Given the description of an element on the screen output the (x, y) to click on. 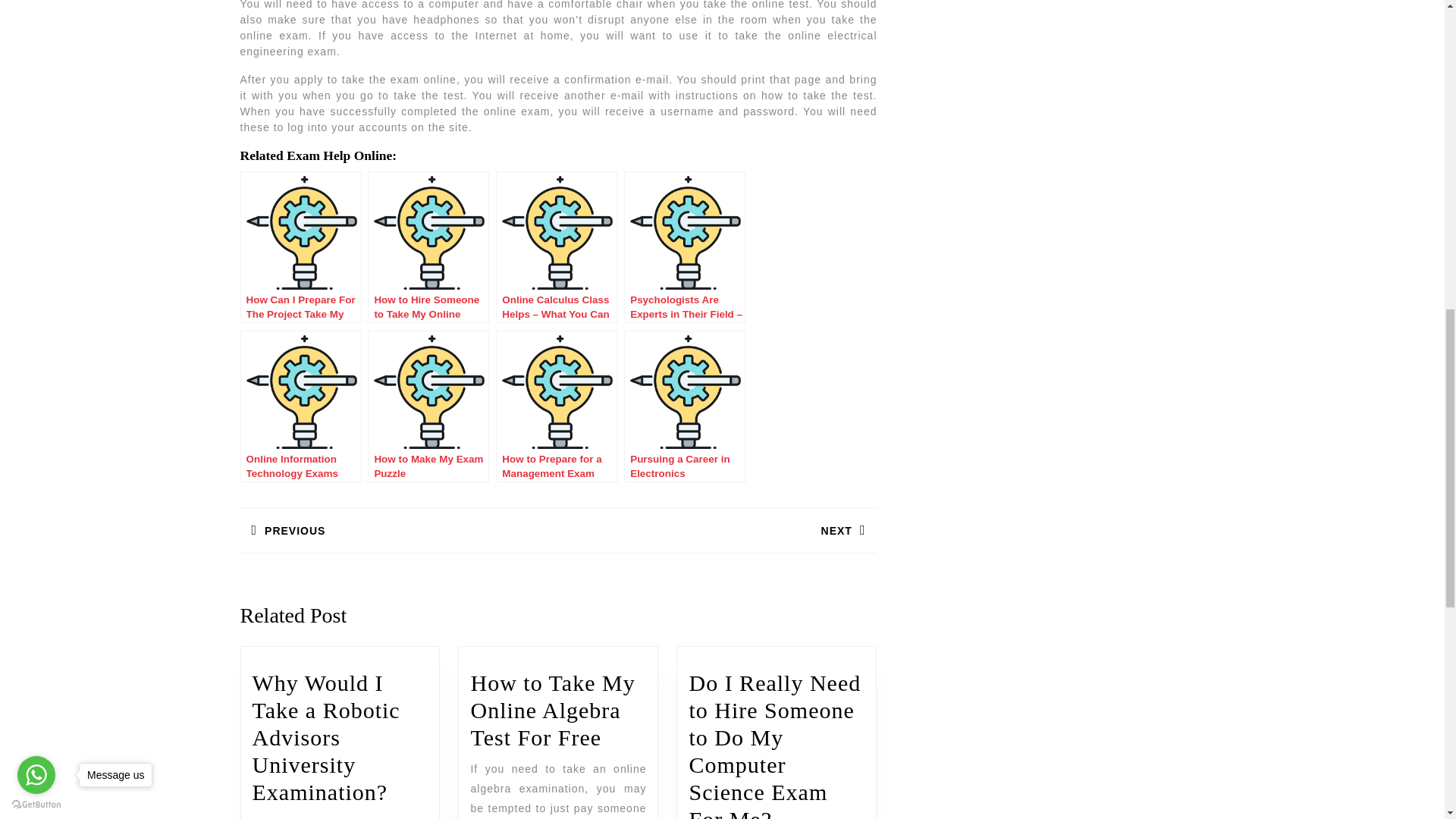
Pursuing a Career in Electronics Engineering (684, 406)
Pursuing a Career in Electronics Engineering (684, 406)
How to Take My Online Algebra Test For Free (552, 710)
Online Information Technology Exams (300, 406)
How to Make My Exam Puzzle (428, 406)
NEXT (716, 529)
How to Prepare for a Management Exam (556, 406)
PREVIOUS (398, 529)
Why Would I Take a Robotic Advisors University Examination? (324, 737)
Online Information Technology Exams (300, 406)
How to Make My Exam Puzzle (428, 406)
How to Prepare for a Management Exam (556, 406)
How Can I Prepare For The Project Take My Exam For Me? (300, 246)
